Given the description of an element on the screen output the (x, y) to click on. 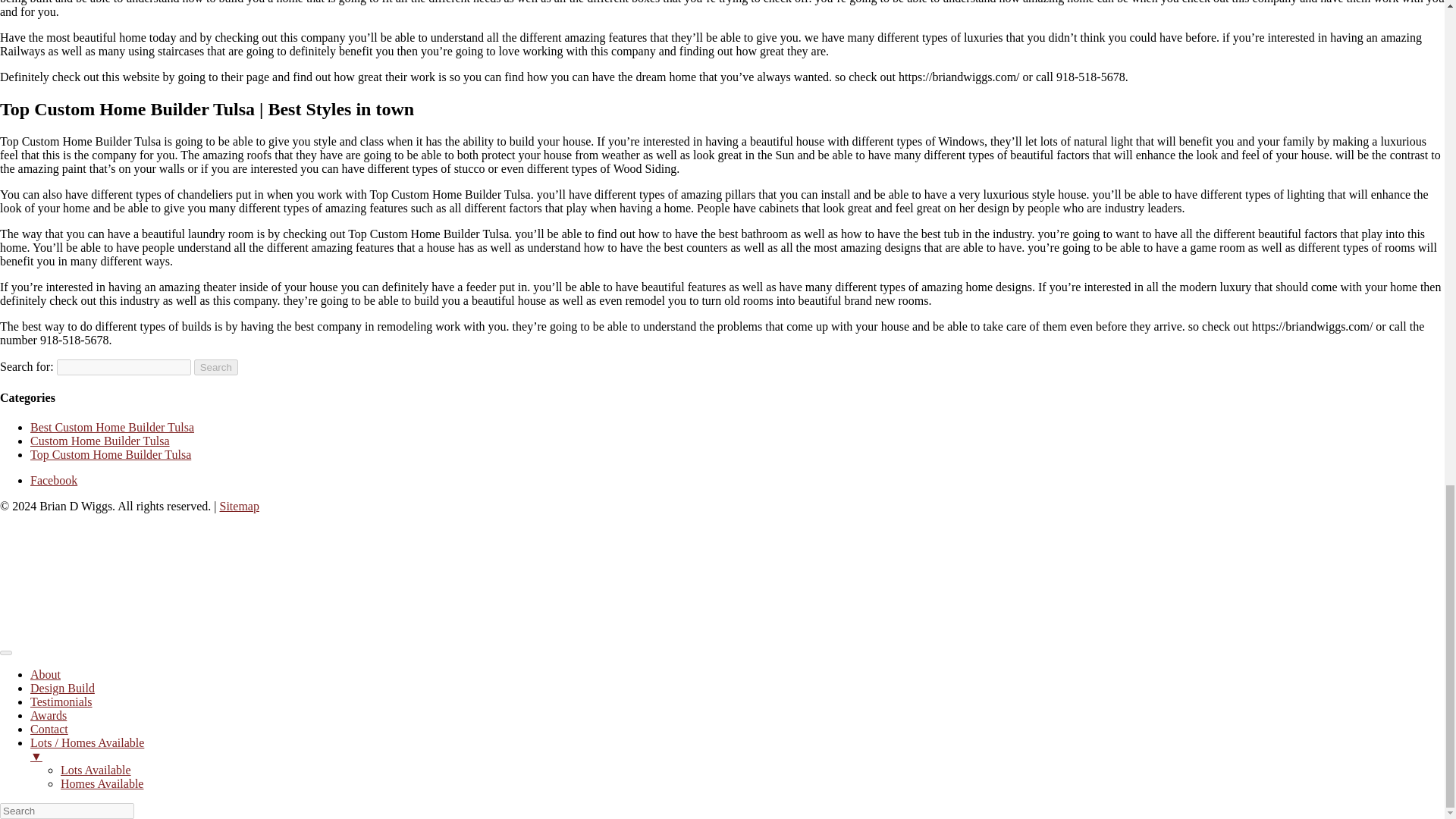
Sitemap (239, 505)
About (45, 674)
Contact (49, 728)
Homes Available (101, 783)
Top Custom Home Builder Tulsa (110, 454)
Best Custom Home Builder Tulsa (111, 427)
Custom Home Builder Tulsa (100, 440)
Awards (48, 715)
Search (215, 367)
Testimonials (61, 701)
Lots Available (96, 769)
Search (215, 367)
Facebook (53, 480)
Design Build (62, 687)
